Given the description of an element on the screen output the (x, y) to click on. 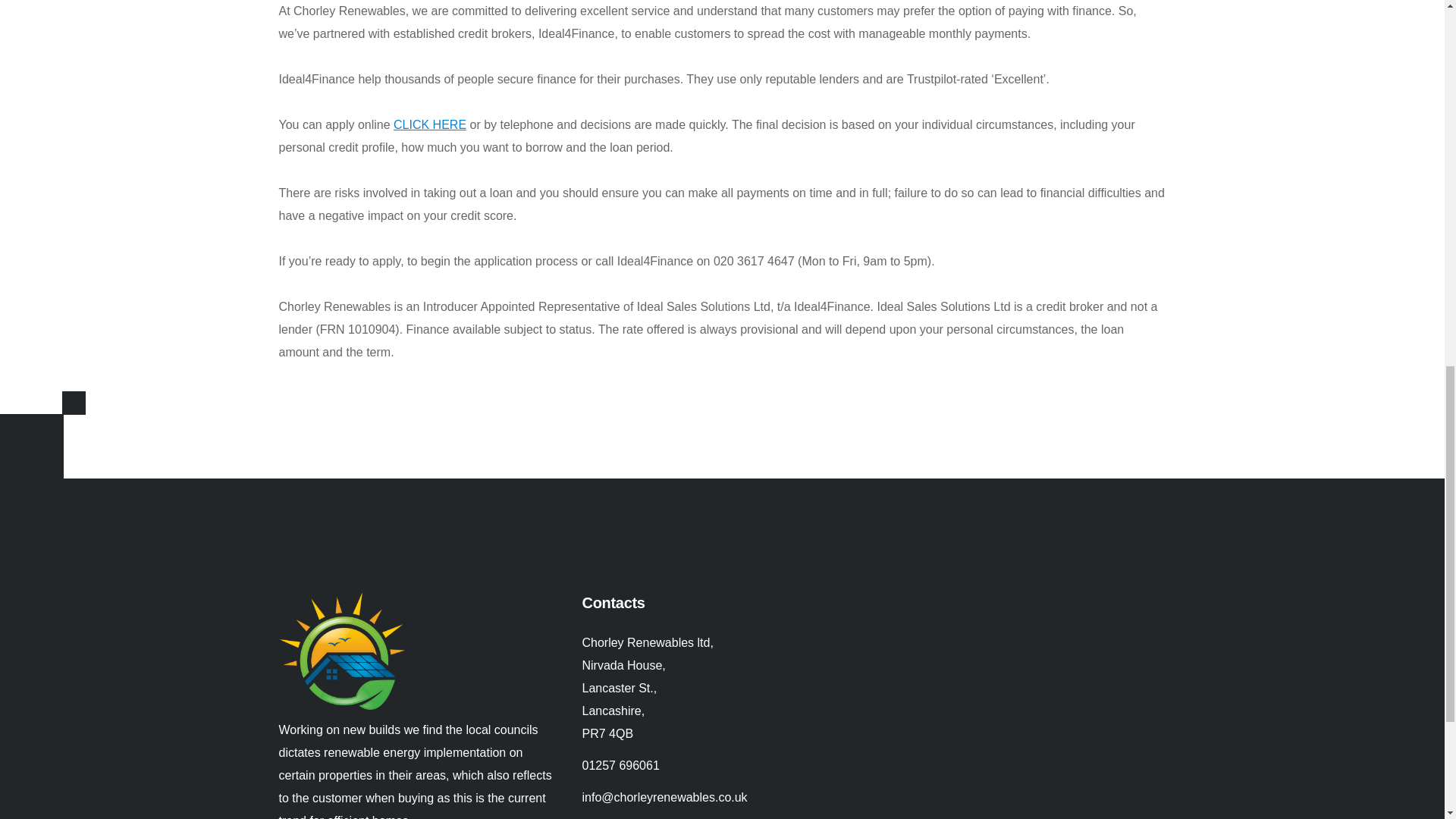
CLICK HERE (429, 124)
